Given the description of an element on the screen output the (x, y) to click on. 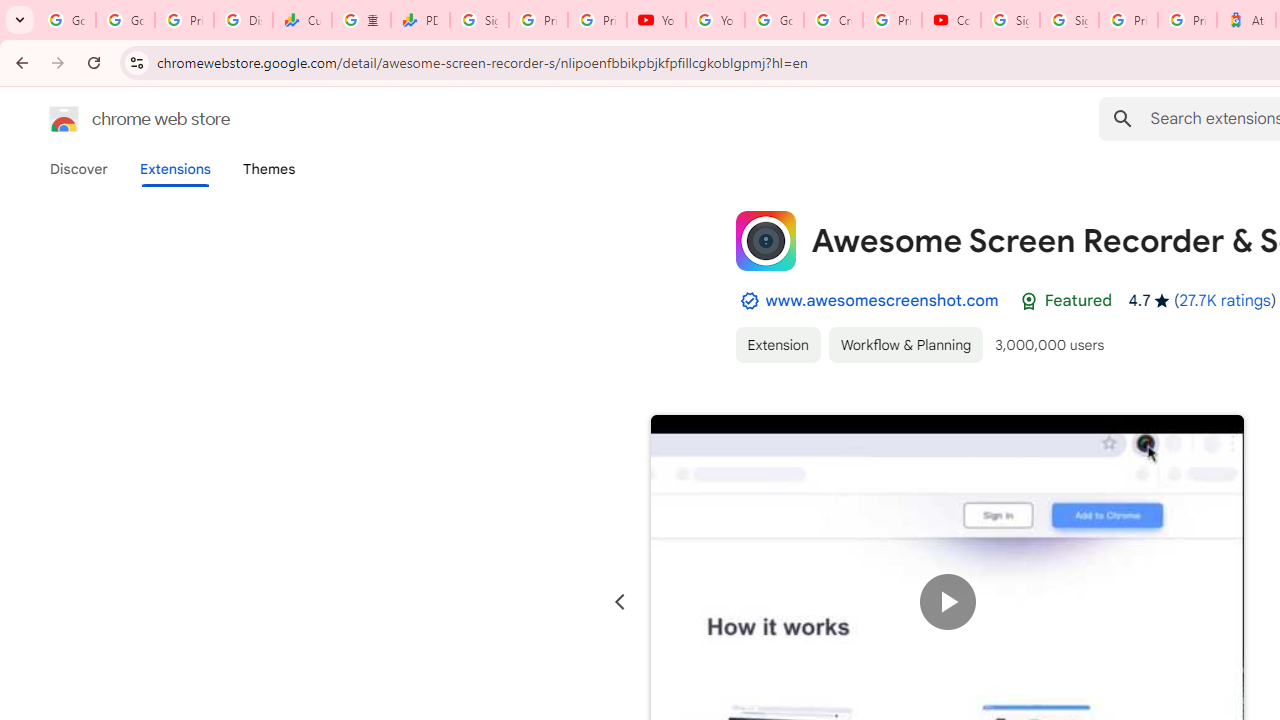
Discover (79, 169)
YouTube (715, 20)
PDD Holdings Inc - ADR (PDD) Price & News - Google Finance (420, 20)
Google Workspace Admin Community (66, 20)
Item media 1 video (947, 601)
Sign in - Google Accounts (479, 20)
Google Account Help (774, 20)
Previous slide (619, 601)
